Given the description of an element on the screen output the (x, y) to click on. 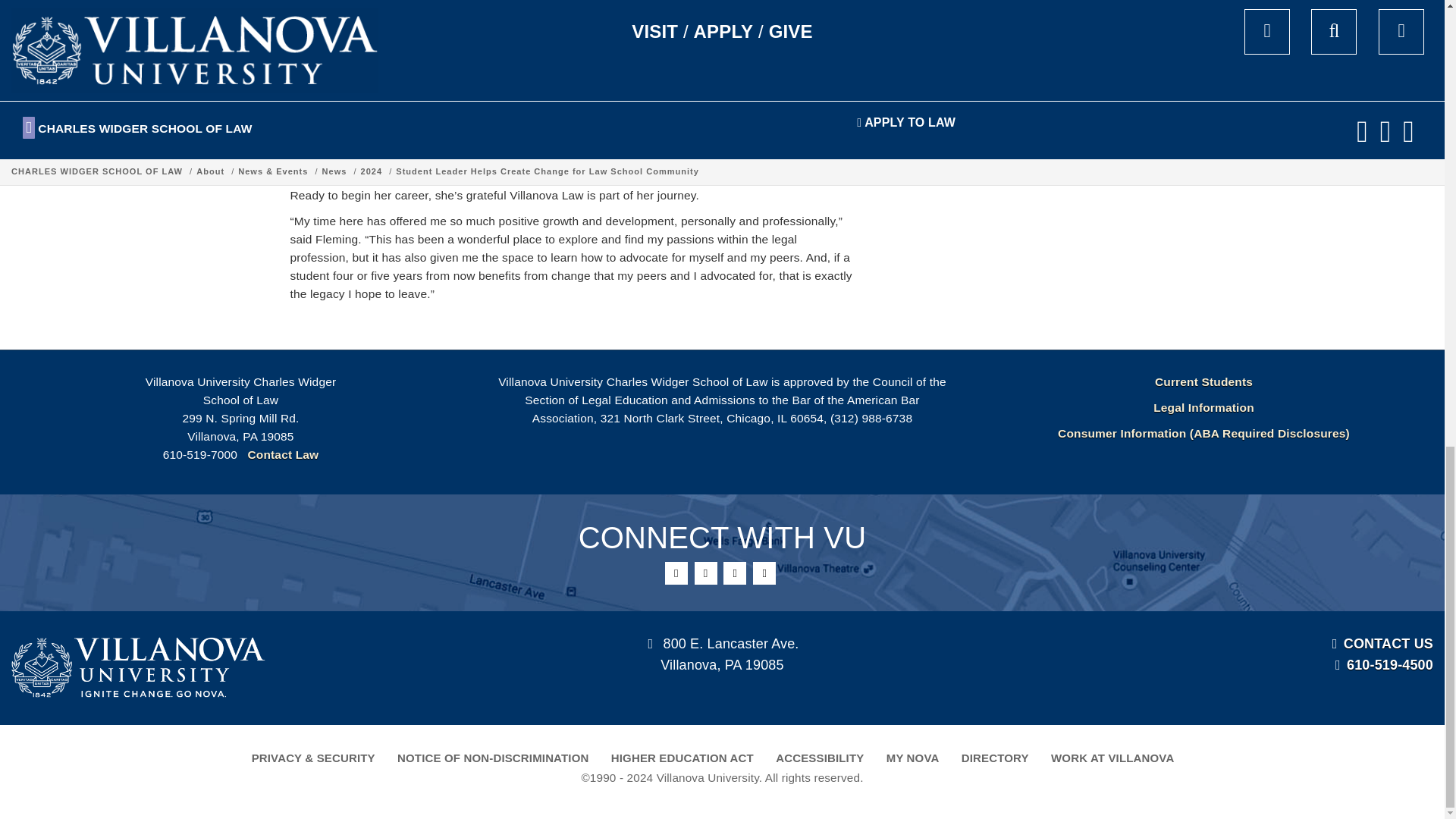
Villanova University (137, 667)
